Given the description of an element on the screen output the (x, y) to click on. 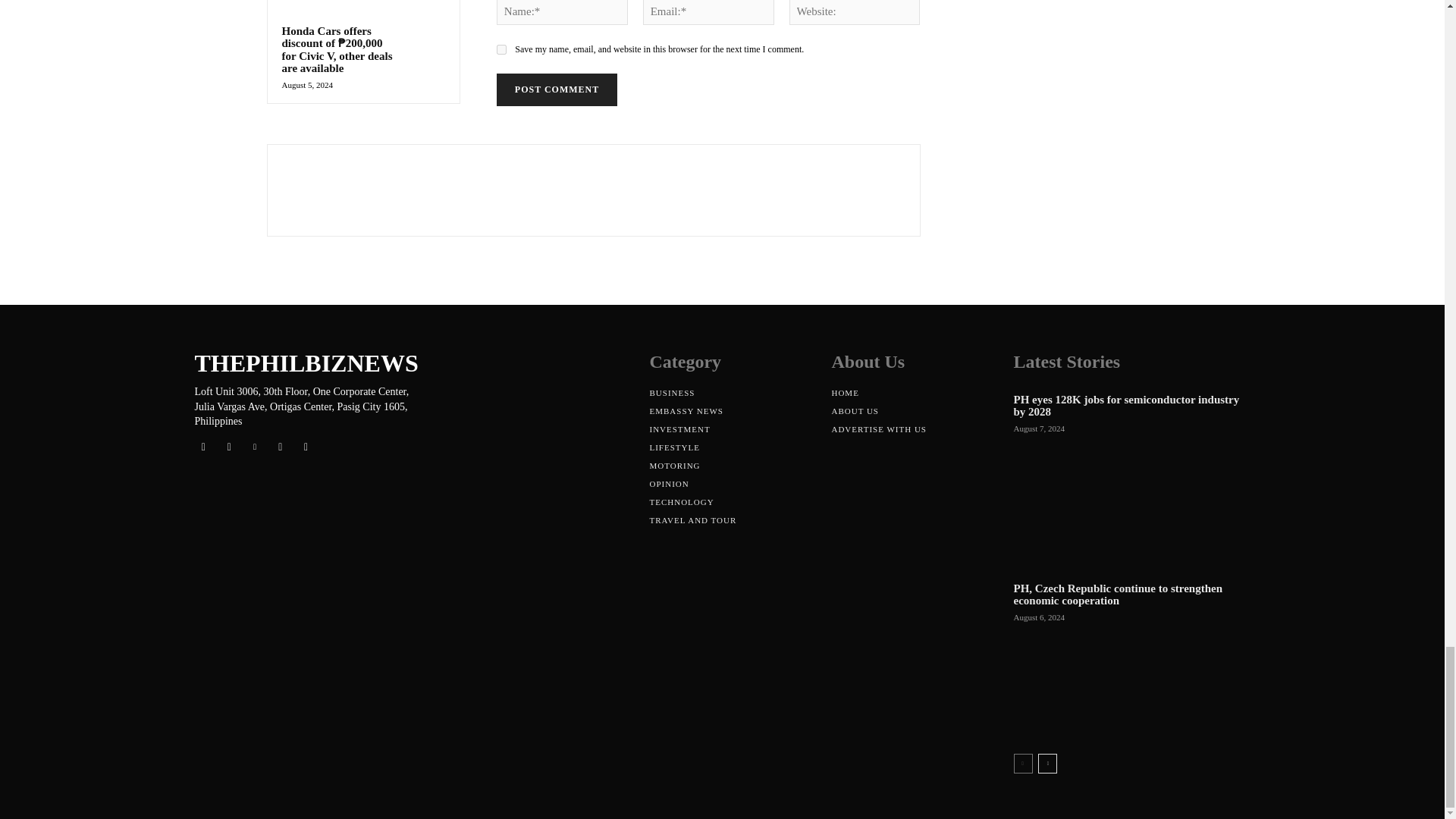
yes (501, 49)
Post Comment (556, 89)
